Given the description of an element on the screen output the (x, y) to click on. 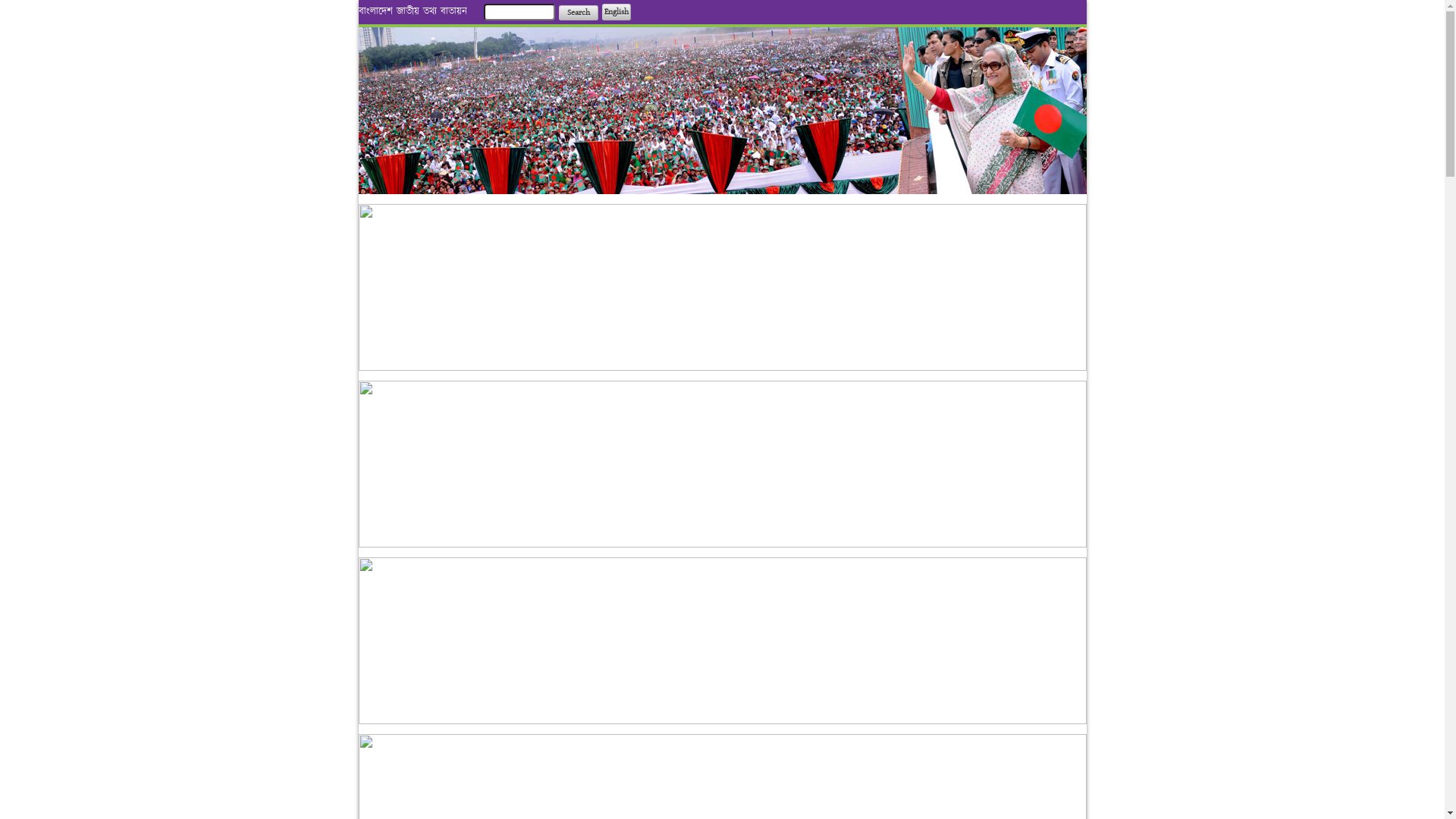
English Element type: text (616, 11)
Search Element type: text (577, 12)
